Given the description of an element on the screen output the (x, y) to click on. 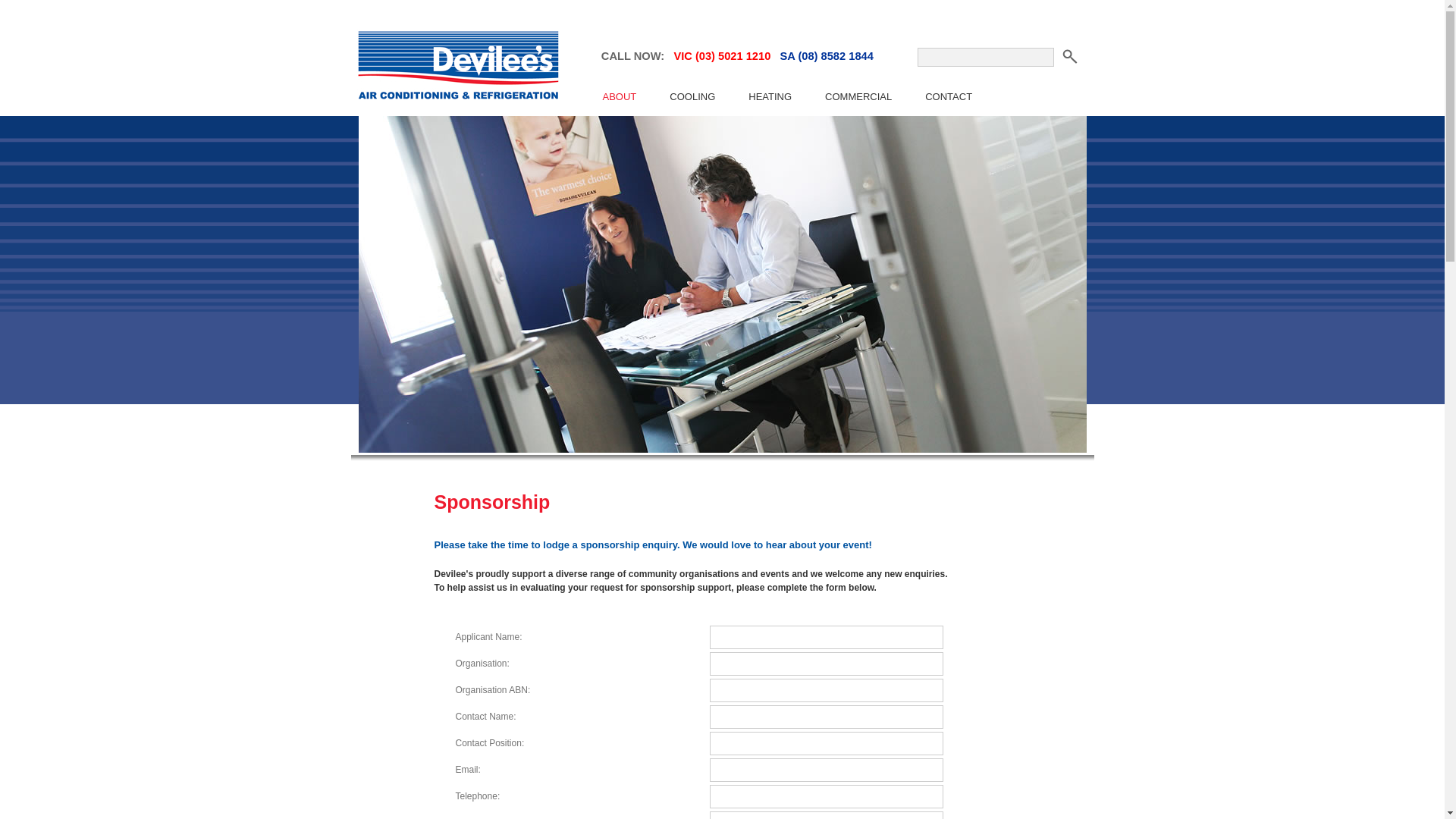
ABOUT Element type: text (618, 96)
COOLING Element type: text (691, 96)
HEATING Element type: text (769, 96)
CONTACT Element type: text (948, 96)
Home page Element type: hover (454, 112)
COMMERCIAL Element type: text (858, 96)
Devilees Air Conditioning & Refrigeration Element type: hover (454, 68)
